Given the description of an element on the screen output the (x, y) to click on. 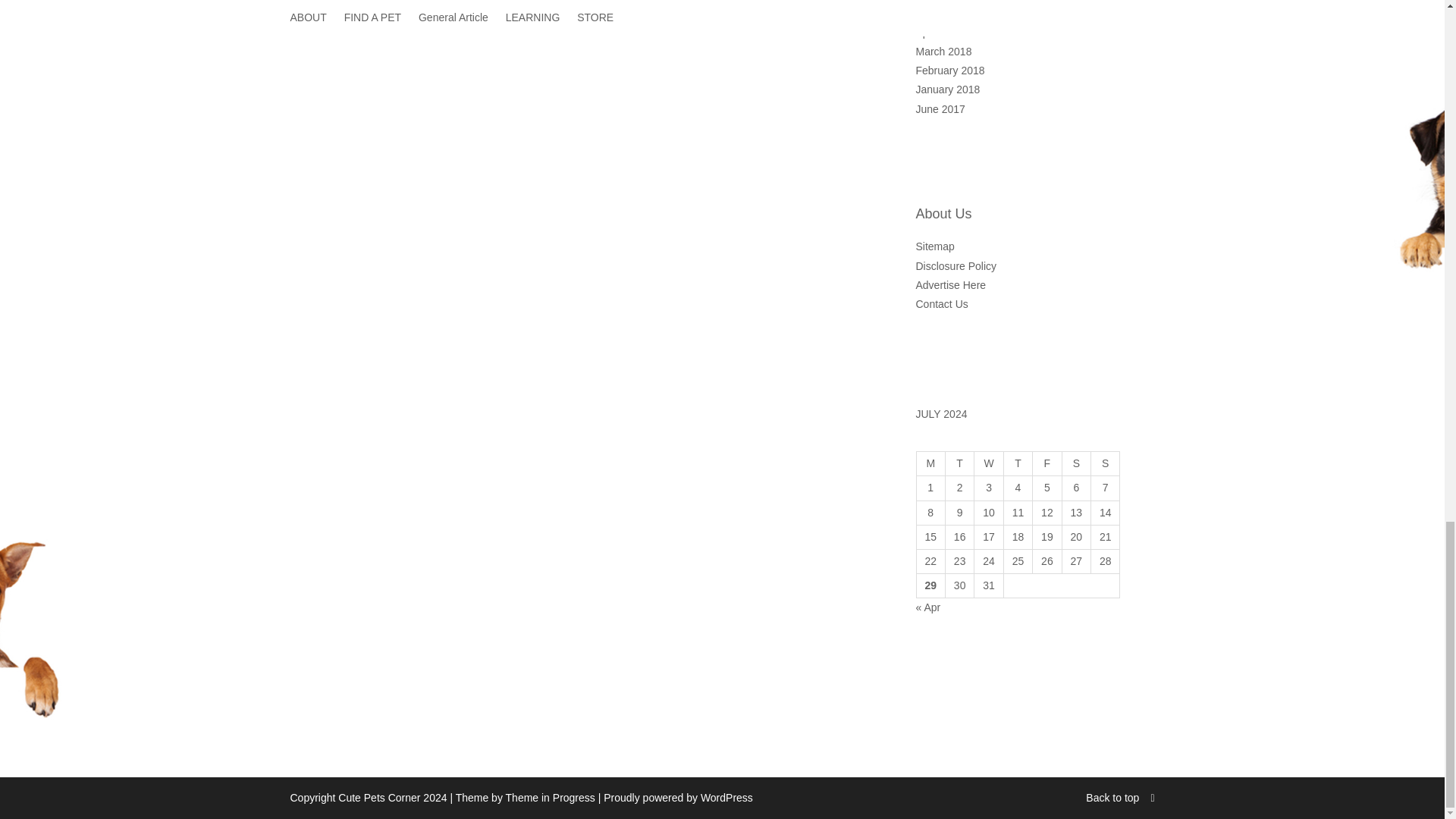
A Semantic Personal Publishing Platform (678, 797)
Wednesday (988, 463)
Friday (1046, 463)
Saturday (1075, 463)
Sunday (1104, 463)
Monday (929, 463)
Thursday (1017, 463)
Tuesday (959, 463)
